Given the description of an element on the screen output the (x, y) to click on. 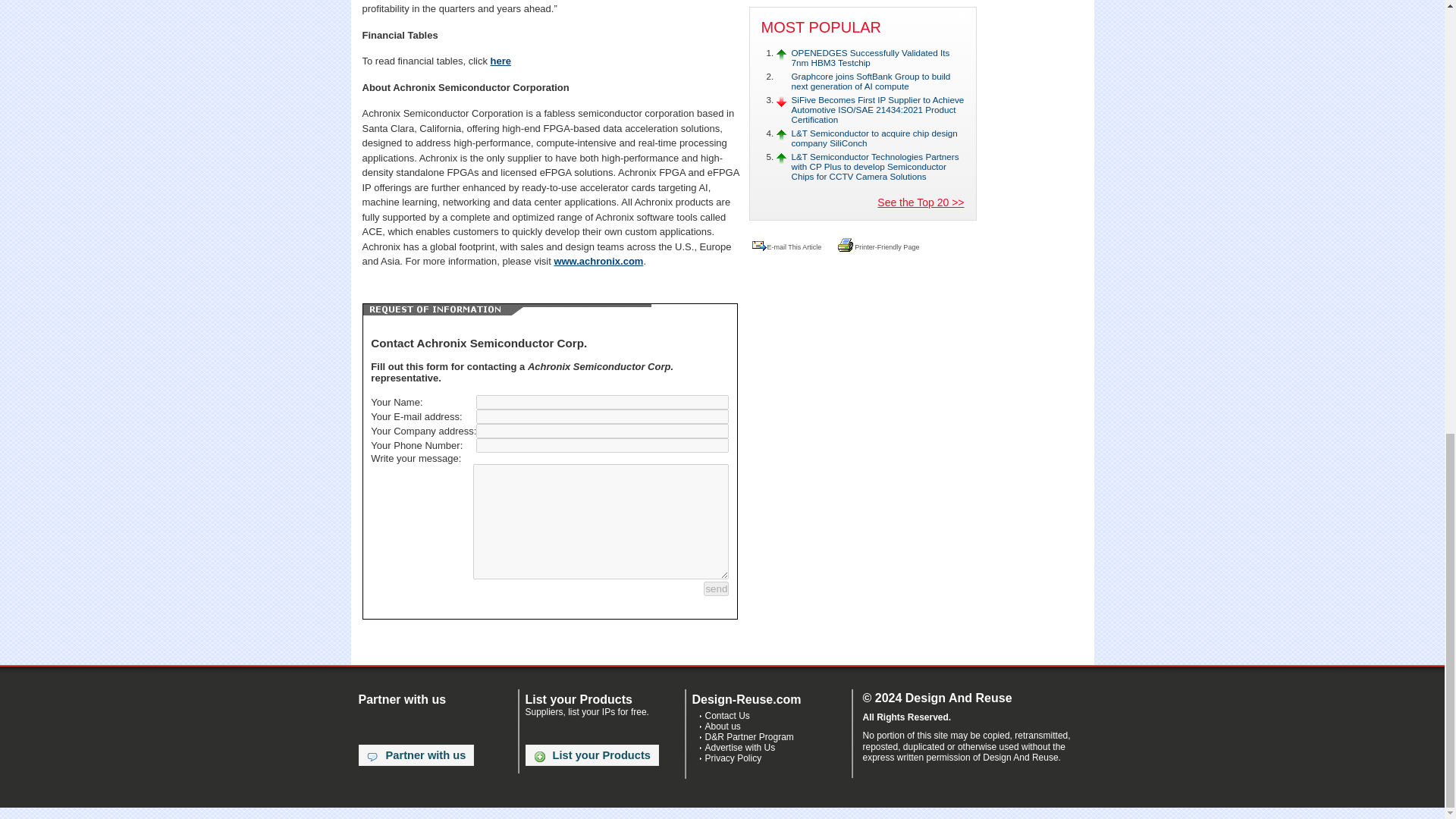
send (716, 587)
